Given the description of an element on the screen output the (x, y) to click on. 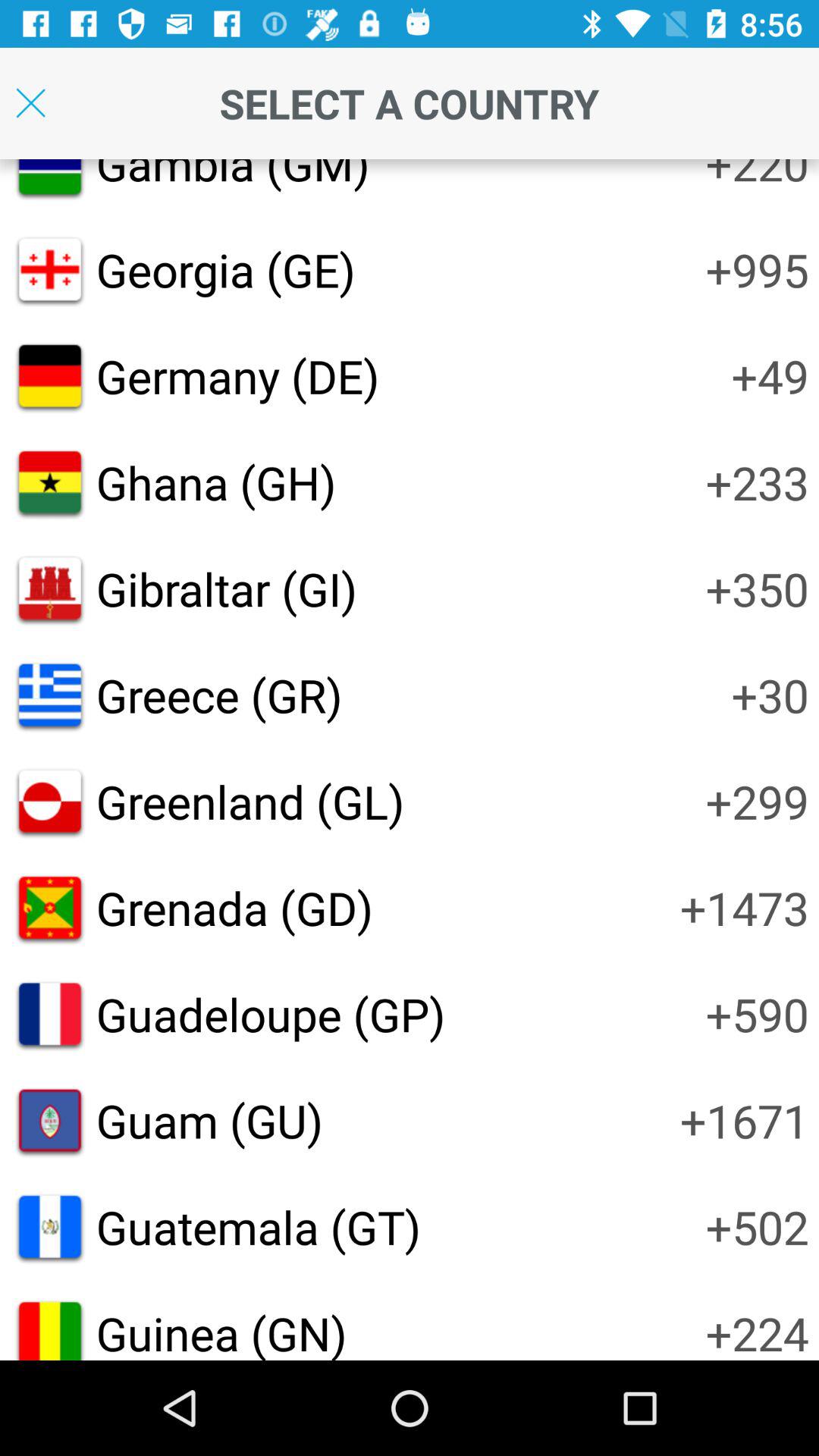
jump until the guinea (gn) (221, 1331)
